Given the description of an element on the screen output the (x, y) to click on. 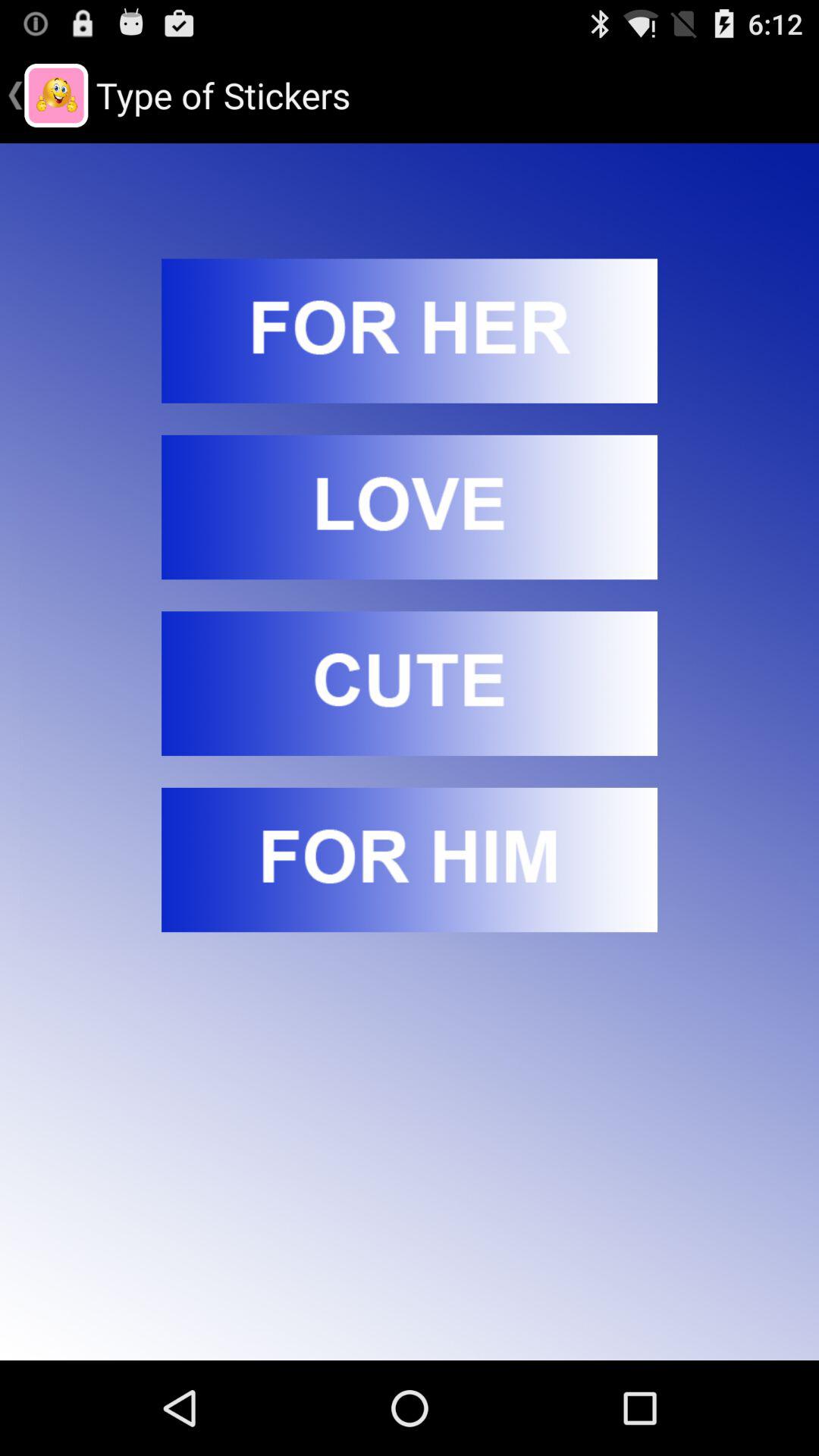
choose item at the top (409, 330)
